Given the description of an element on the screen output the (x, y) to click on. 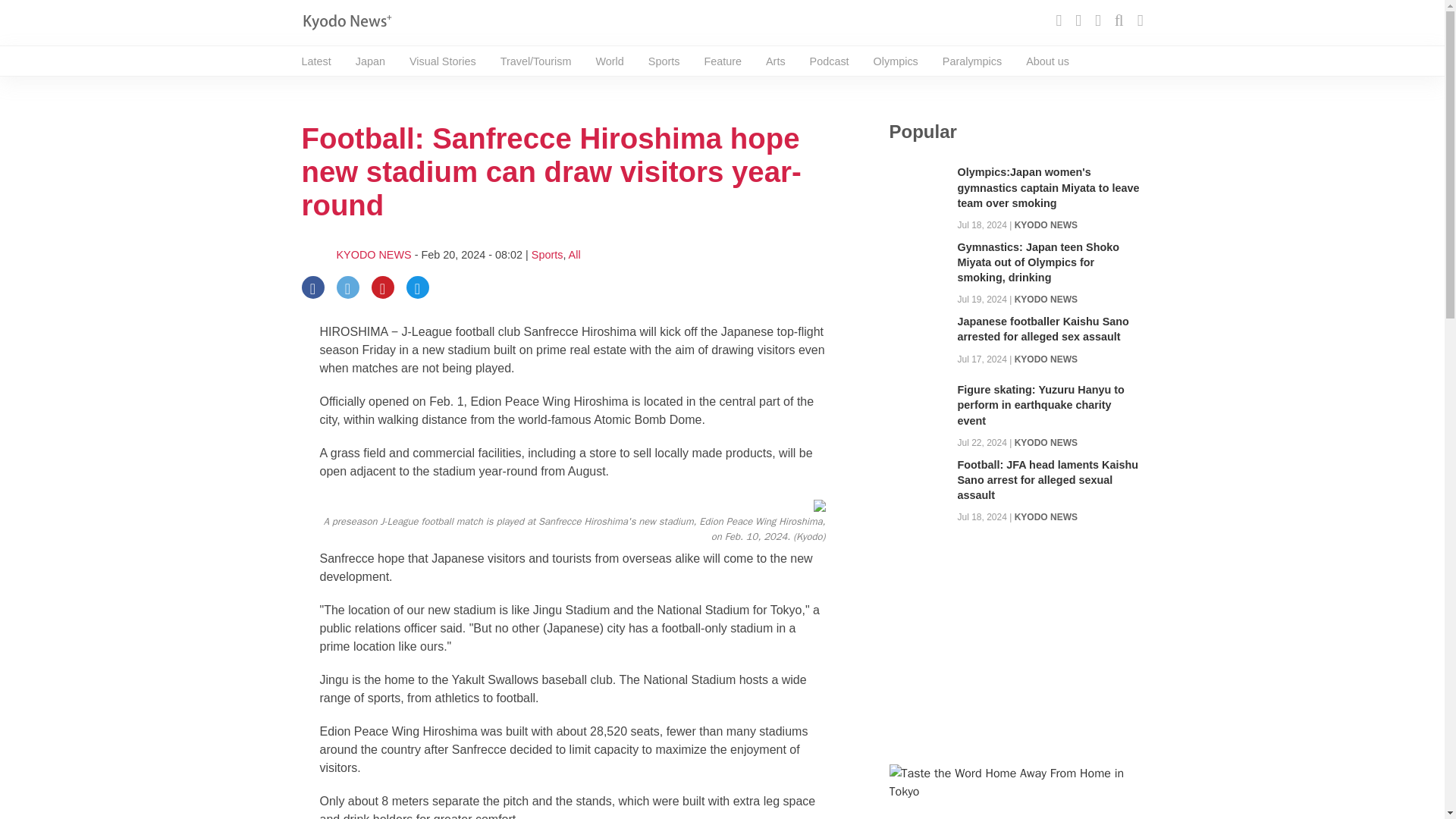
Sports (547, 254)
Latest (316, 61)
Podcast (828, 61)
About us (1047, 61)
Arts (775, 61)
Visual Stories (442, 61)
Paralympics (971, 61)
Japan (370, 61)
Sports (663, 61)
KYODO NEWS (374, 254)
World (609, 61)
Feature (722, 61)
All (574, 254)
KYODO NEWS (1045, 225)
